Given the description of an element on the screen output the (x, y) to click on. 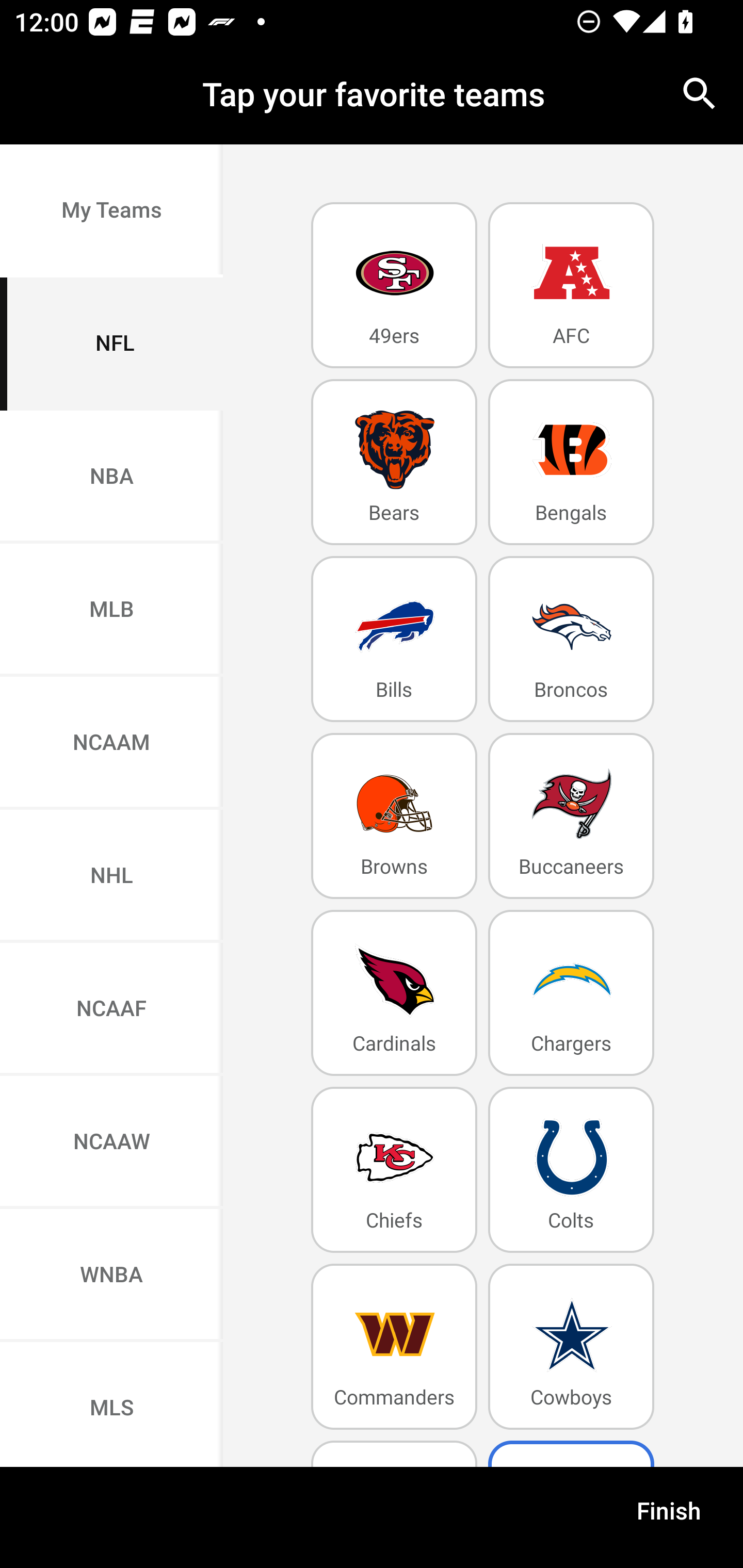
search (699, 93)
My Teams (111, 210)
49ers (394, 285)
AFC (571, 285)
NFL (111, 343)
Bears (394, 462)
Bengals (571, 462)
NBA (111, 477)
MLB (111, 610)
Bills (394, 639)
Broncos (571, 639)
NCAAM (111, 743)
Browns (394, 815)
Buccaneers (571, 815)
NHL (111, 876)
Cardinals (394, 992)
Chargers (571, 992)
NCAAF (111, 1009)
NCAAW (111, 1141)
Chiefs (394, 1169)
Colts (571, 1169)
WNBA (111, 1275)
Commanders (394, 1346)
Cowboys (571, 1346)
MLS (111, 1404)
Finish Finish and Close (669, 1517)
